Given the description of an element on the screen output the (x, y) to click on. 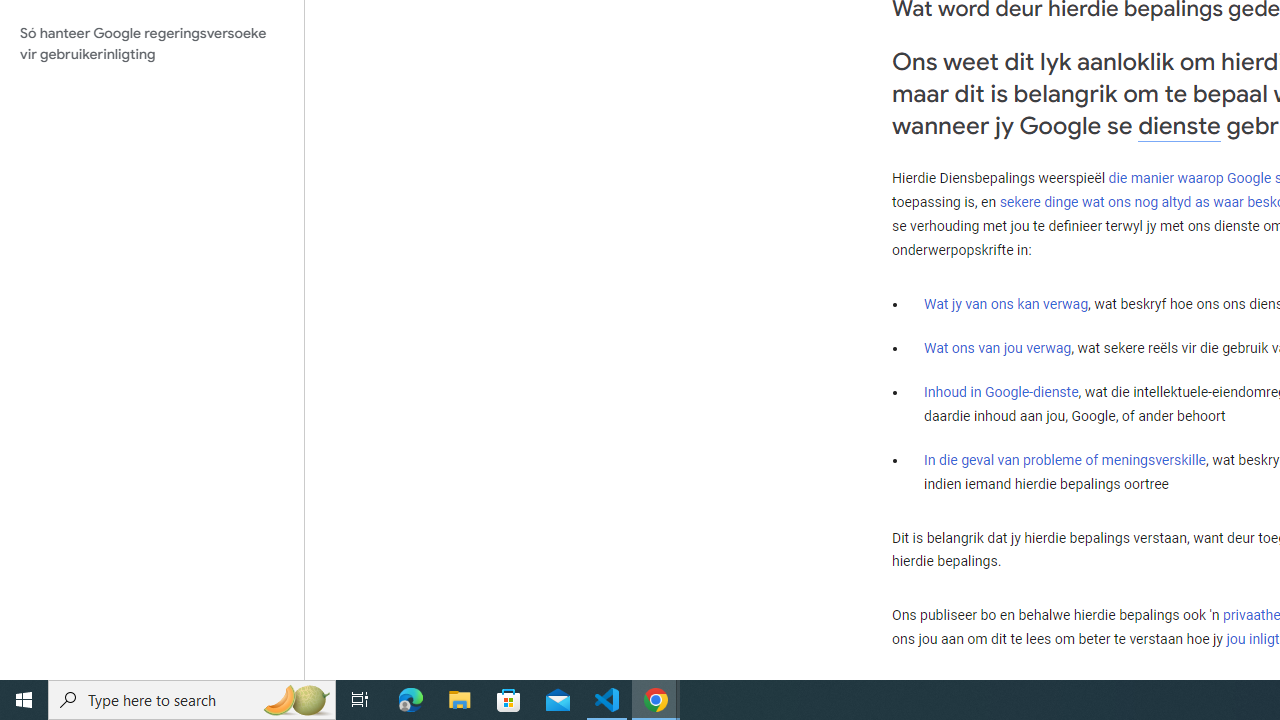
dienste (1179, 125)
Inhoud in Google-dienste (1001, 392)
In die geval van probleme of meningsverskille (1064, 459)
Wat ons van jou verwag (998, 348)
Wat jy van ons kan verwag (1006, 304)
